Given the description of an element on the screen output the (x, y) to click on. 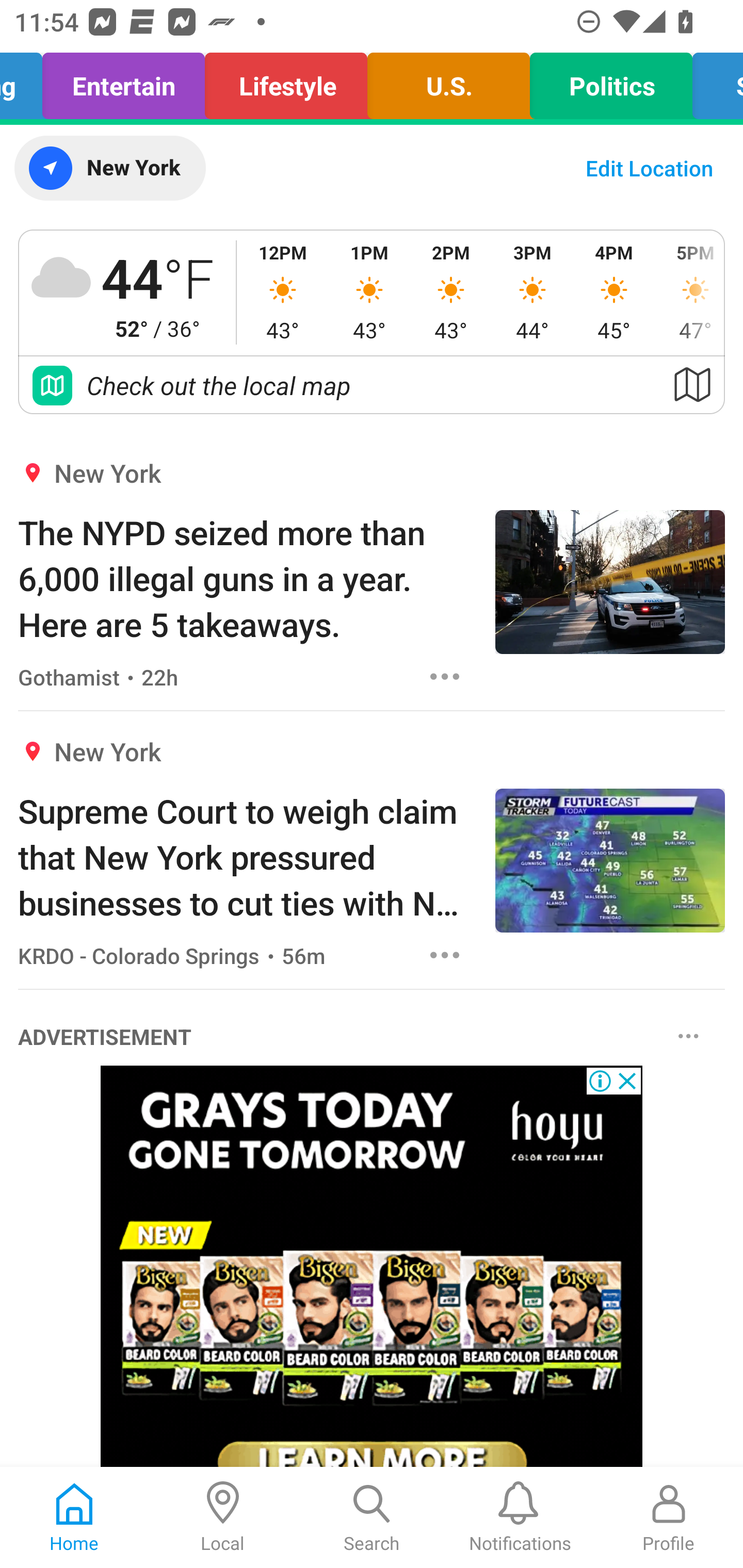
Entertain (123, 81)
Lifestyle (285, 81)
U.S. (448, 81)
Politics (611, 81)
New York (109, 168)
Edit Location (648, 168)
12PM 43° (282, 291)
1PM 43° (369, 291)
2PM 43° (450, 291)
3PM 44° (532, 291)
4PM 45° (613, 291)
5PM 47° (689, 291)
Check out the local map (371, 384)
Options (444, 676)
Options (444, 954)
Options (688, 1035)
28 (371, 1266)
Local (222, 1517)
Search (371, 1517)
Notifications (519, 1517)
Profile (668, 1517)
